Given the description of an element on the screen output the (x, y) to click on. 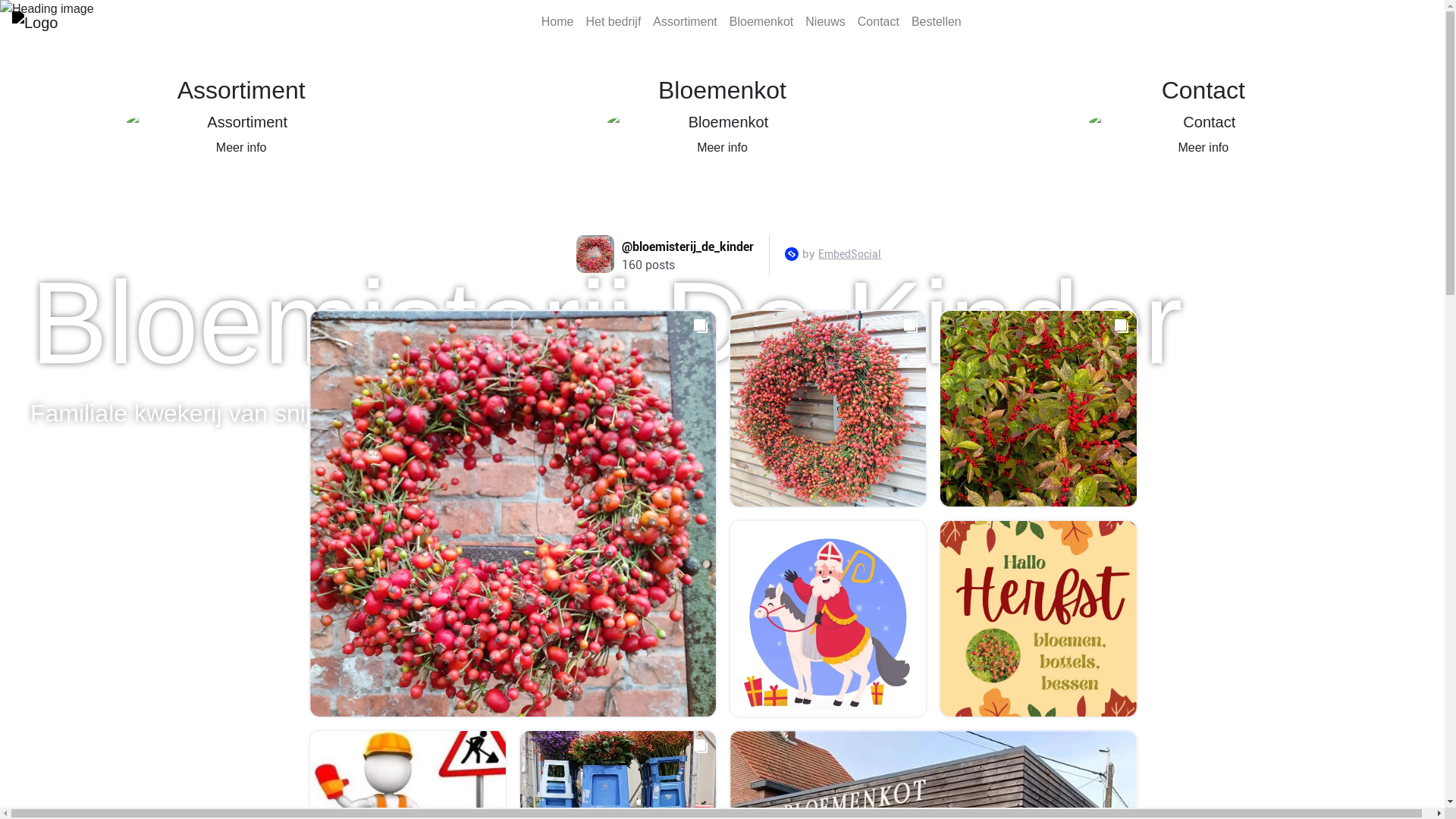
Assortiment Element type: text (684, 21)
Meer info Element type: text (1202, 147)
Het bedrijf Element type: text (612, 21)
Home Element type: text (557, 21)
Contact Element type: text (878, 21)
Bestellen Element type: text (936, 21)
Bloemenkot Element type: text (761, 21)
Meer info Element type: text (722, 147)
Nieuws Element type: text (824, 21)
Meer info Element type: text (241, 147)
